Given the description of an element on the screen output the (x, y) to click on. 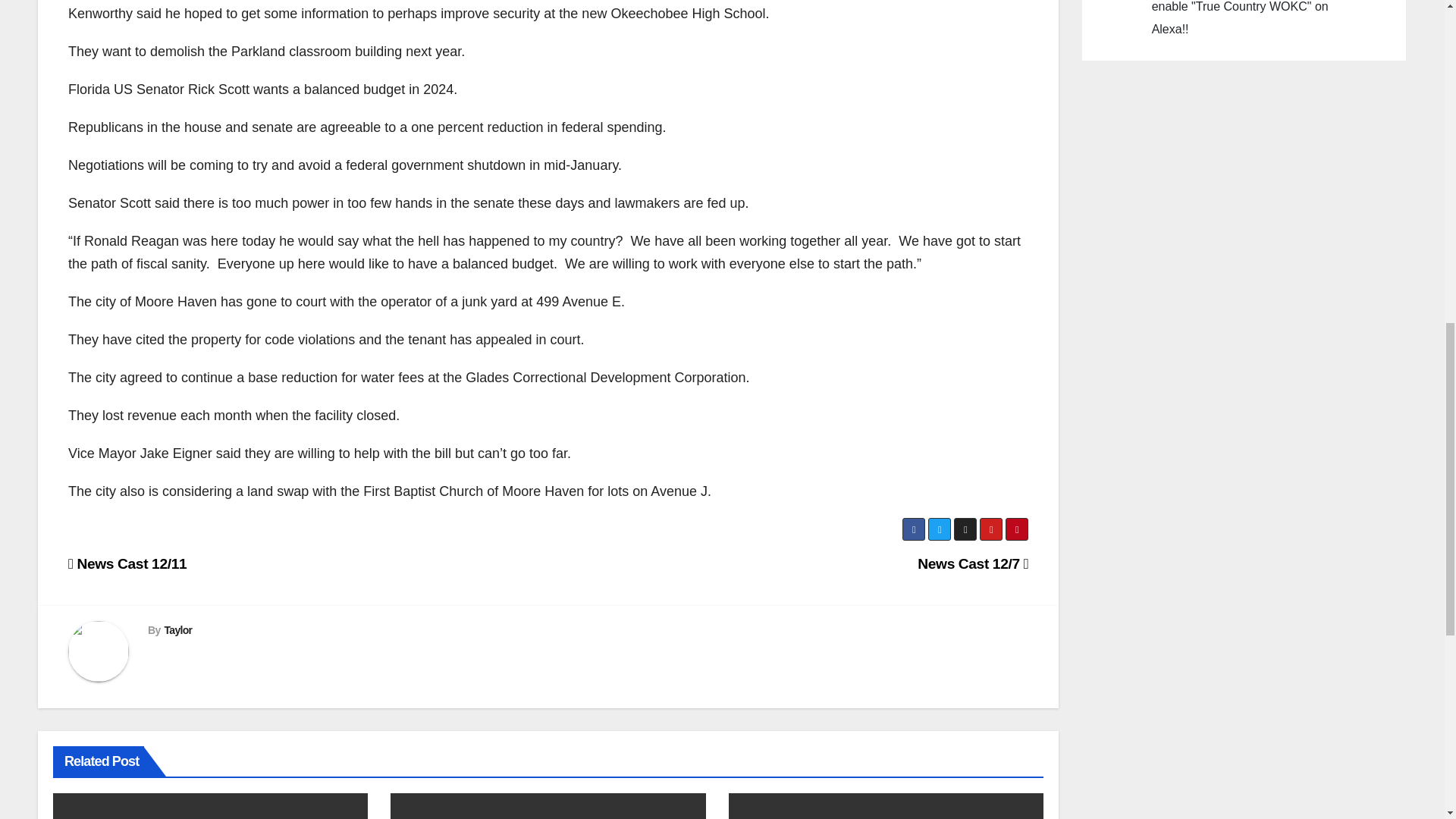
Taylor (177, 630)
